Given the description of an element on the screen output the (x, y) to click on. 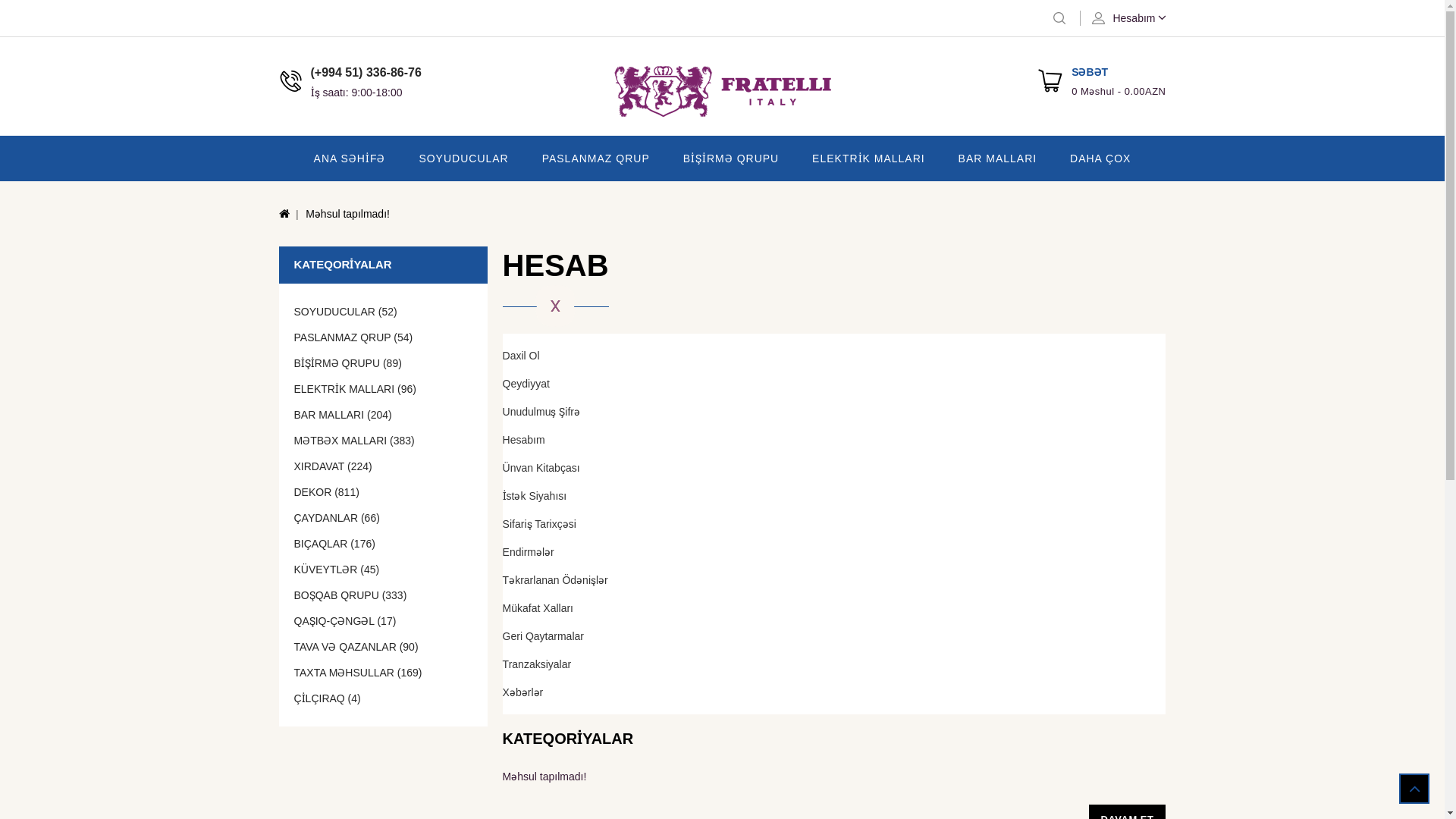
Daxil Ol Element type: text (834, 355)
DEKOR (811) Element type: text (383, 491)
BAR MALLARI Element type: text (997, 158)
Geri Qaytarmalar Element type: text (834, 635)
BAR MALLARI (204) Element type: text (383, 414)
(+994 51) 336-86-76 Element type: text (365, 71)
Qeydiyyat Element type: text (834, 383)
XIRDAVAT (224) Element type: text (383, 465)
Tranzaksiyalar Element type: text (834, 663)
PASLANMAZ QRUP Element type: text (596, 158)
TOP Element type: text (1414, 788)
SOYUDUCULAR Element type: text (463, 158)
SOYUDUCULAR (52) Element type: text (383, 311)
PASLANMAZ QRUP (54) Element type: text (383, 337)
Fratelli.az Element type: hover (721, 90)
